Given the description of an element on the screen output the (x, y) to click on. 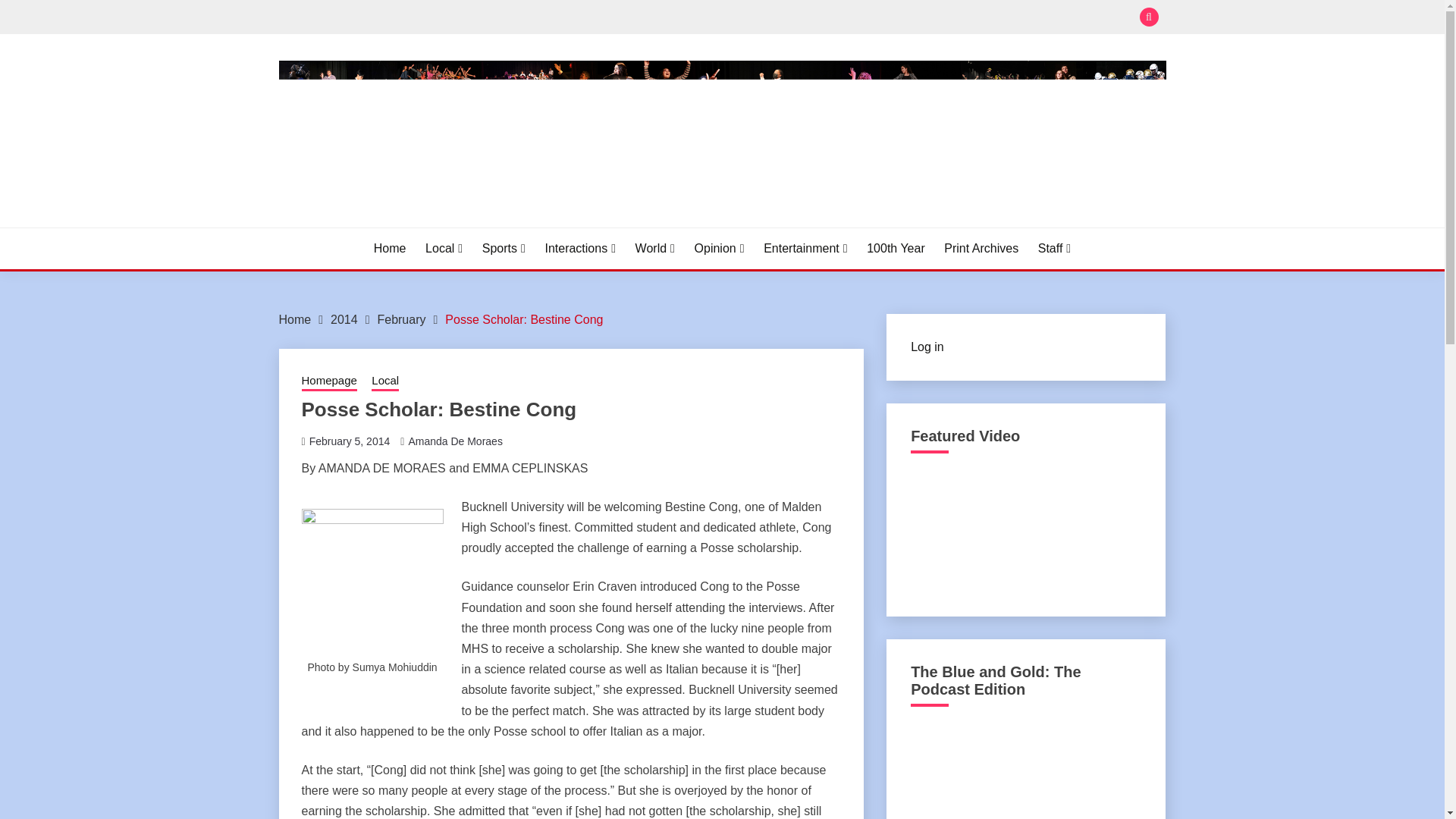
World (654, 248)
Staff (1054, 248)
Home (390, 248)
Search (832, 18)
February (401, 318)
Opinion (719, 248)
Sports (503, 248)
Posse Scholar: Bestine Cong (523, 318)
Interactions (579, 248)
100th Year (895, 248)
Entertainment (804, 248)
Local (444, 248)
Print Archives (980, 248)
2014 (344, 318)
YouTube video player (1024, 530)
